Given the description of an element on the screen output the (x, y) to click on. 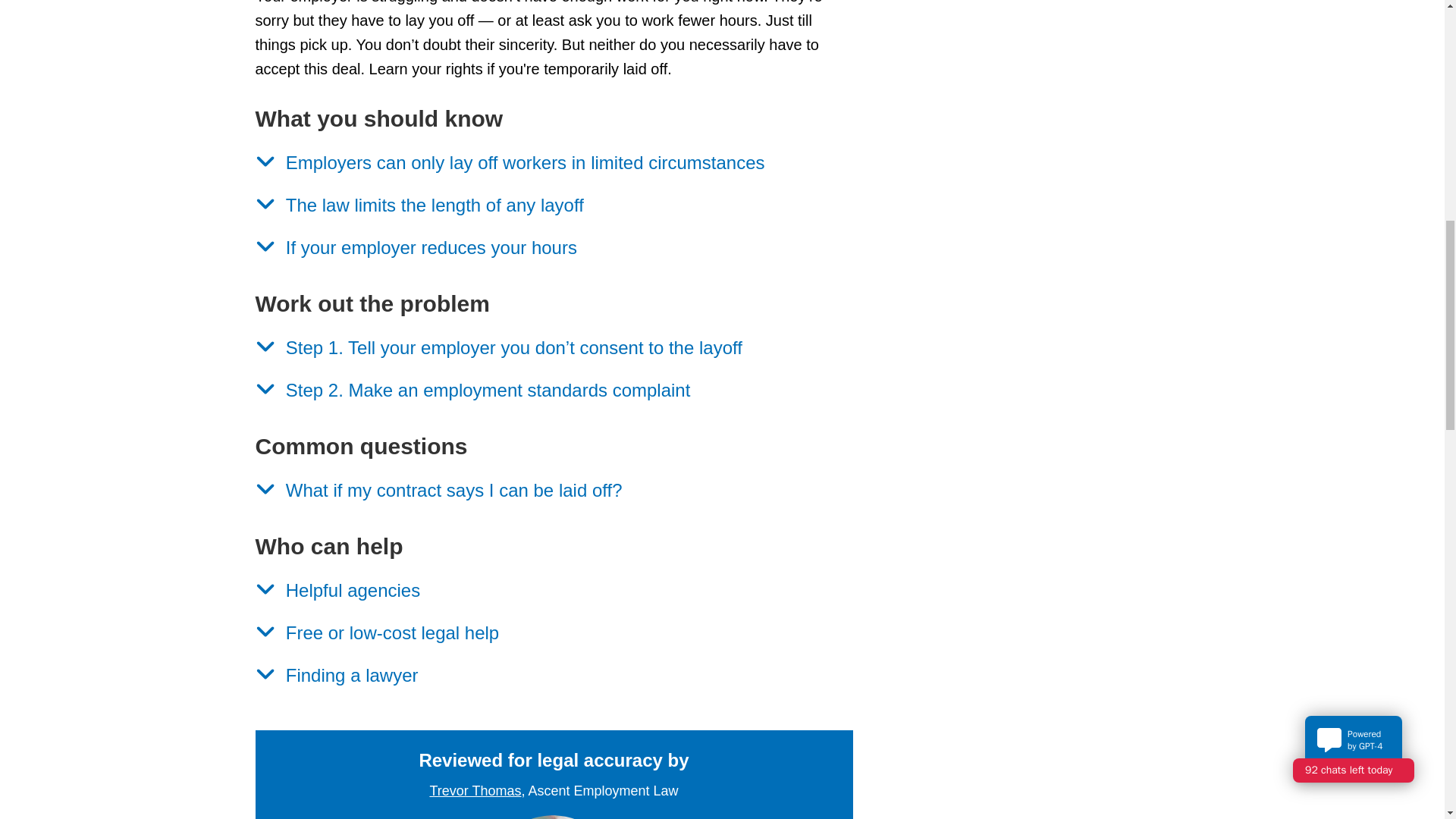
Trevor Thomas (550, 816)
